Given the description of an element on the screen output the (x, y) to click on. 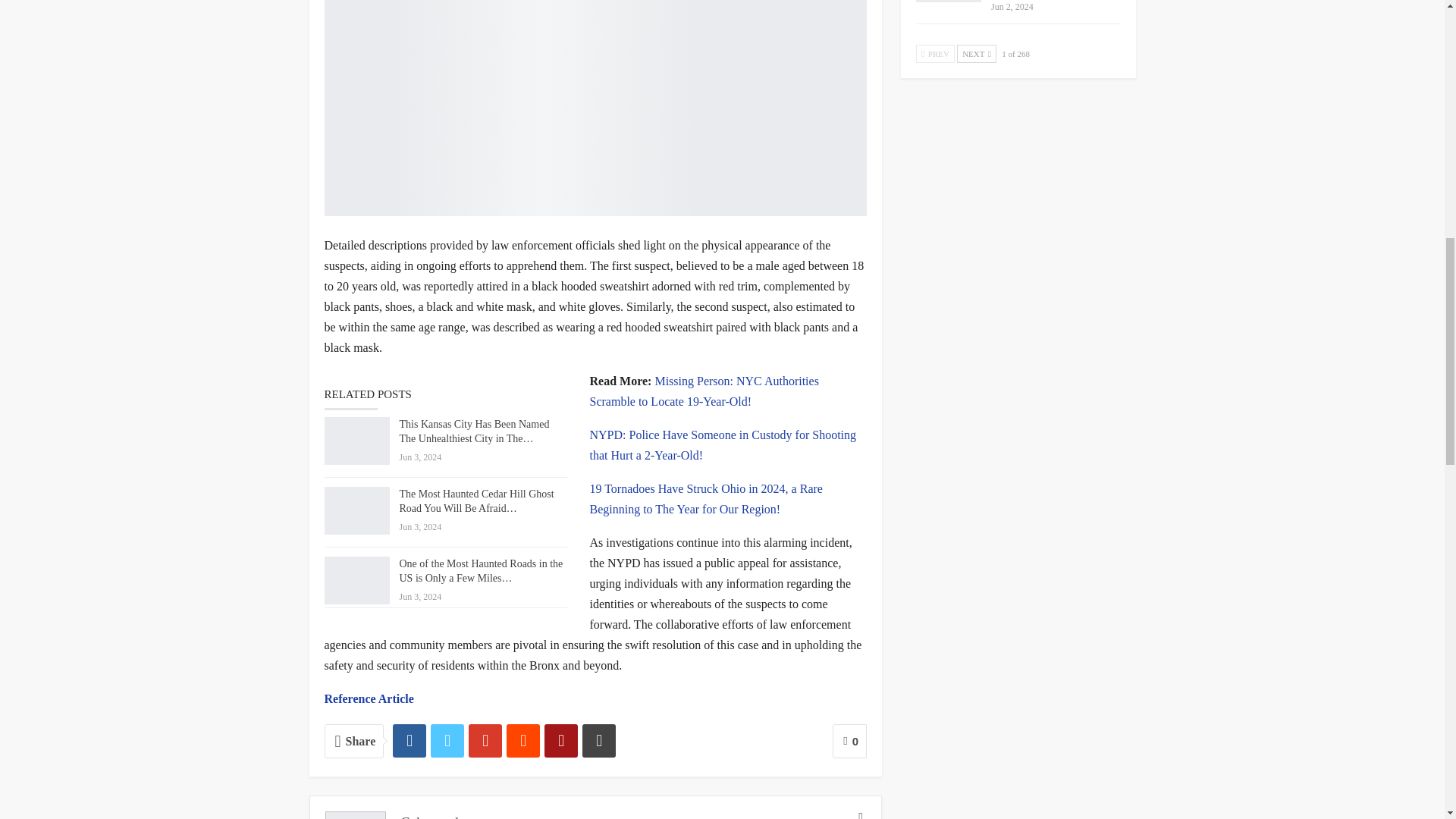
Reference Article (368, 698)
0 (849, 740)
